Given the description of an element on the screen output the (x, y) to click on. 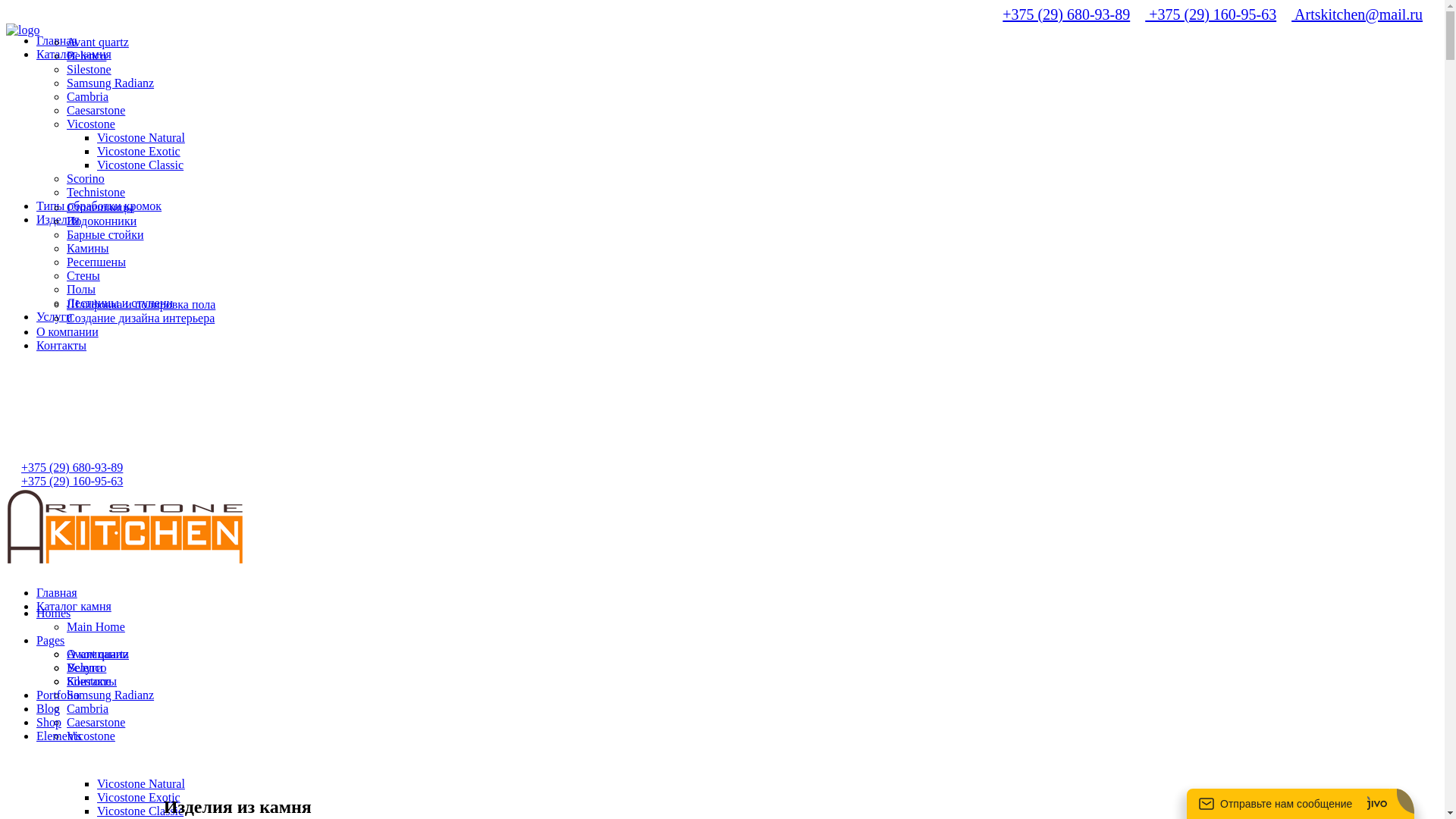
Avant quartz Element type: text (97, 41)
Belenco Element type: text (86, 667)
Vicostone Classic Element type: text (140, 810)
Vicostone Element type: text (90, 735)
+375 (29) 680-93-89 Element type: text (1065, 14)
Vicostone Exotic Element type: text (138, 796)
Vicostone Natural Element type: text (141, 137)
Artskitchen@mail.ru Element type: text (1356, 14)
Portfolio Element type: text (57, 694)
Blog Element type: text (47, 708)
Pages Element type: text (50, 639)
Vicostone Natural Element type: text (141, 783)
Vicostone Element type: text (90, 123)
Belenco Element type: text (86, 55)
+375 (29) 160-95-63 Element type: text (71, 480)
Silestone Element type: text (88, 68)
Avant quartz Element type: text (97, 653)
Shop Element type: text (48, 721)
Vicostone Classic Element type: text (140, 164)
Main Home Element type: text (95, 626)
Silestone Element type: text (88, 680)
Vicostone Exotic Element type: text (138, 150)
Elements Element type: text (58, 735)
Homes Element type: text (53, 612)
Samsung Radianz Element type: text (109, 694)
Technistone Element type: text (95, 191)
Scorino Element type: text (85, 178)
Samsung Radianz Element type: text (109, 82)
+375 (29) 160-95-63 Element type: text (1210, 14)
+375 (29) 680-93-89 Element type: text (71, 467)
